Given the description of an element on the screen output the (x, y) to click on. 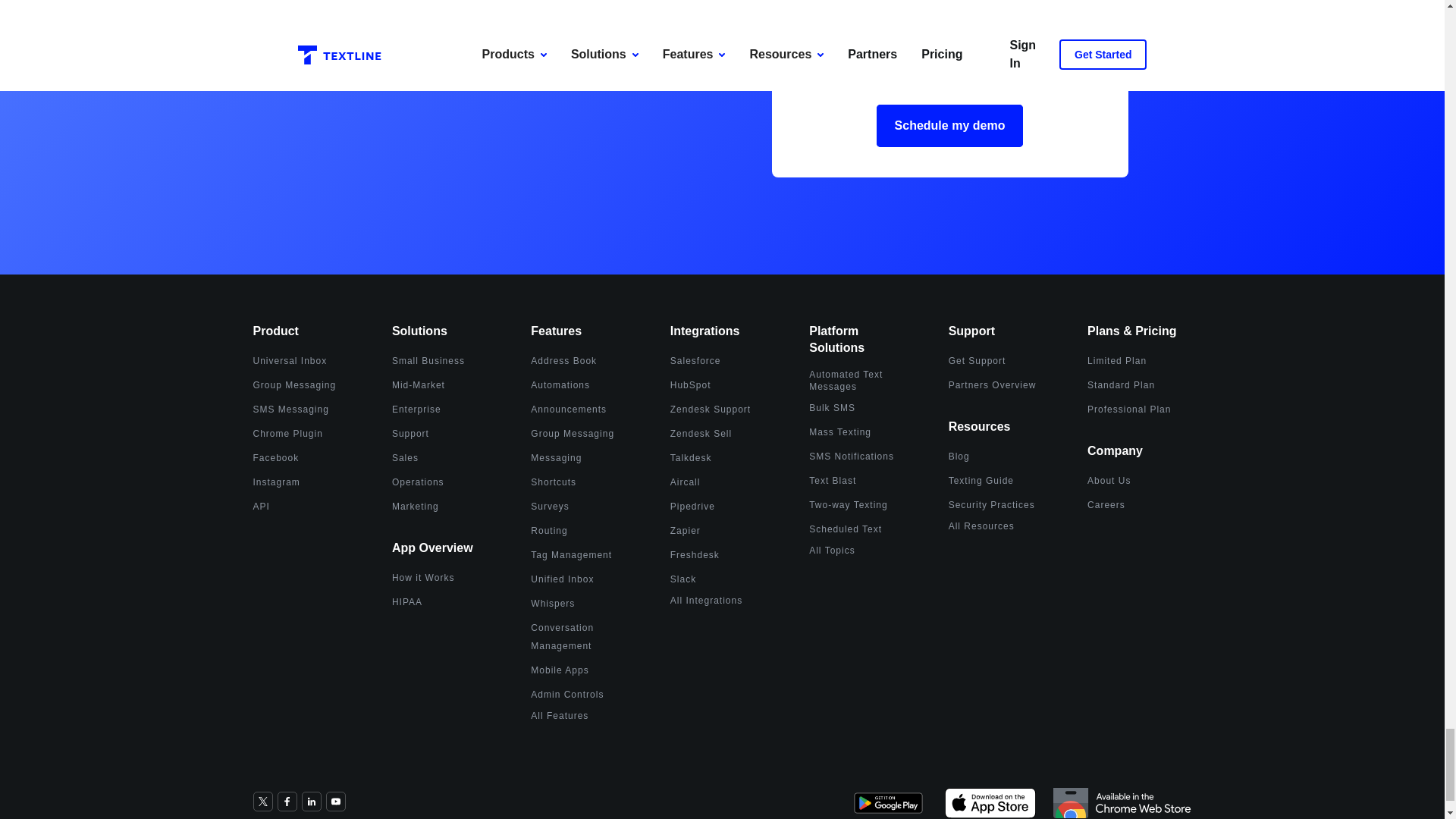
Schedule my demo (949, 125)
